Given the description of an element on the screen output the (x, y) to click on. 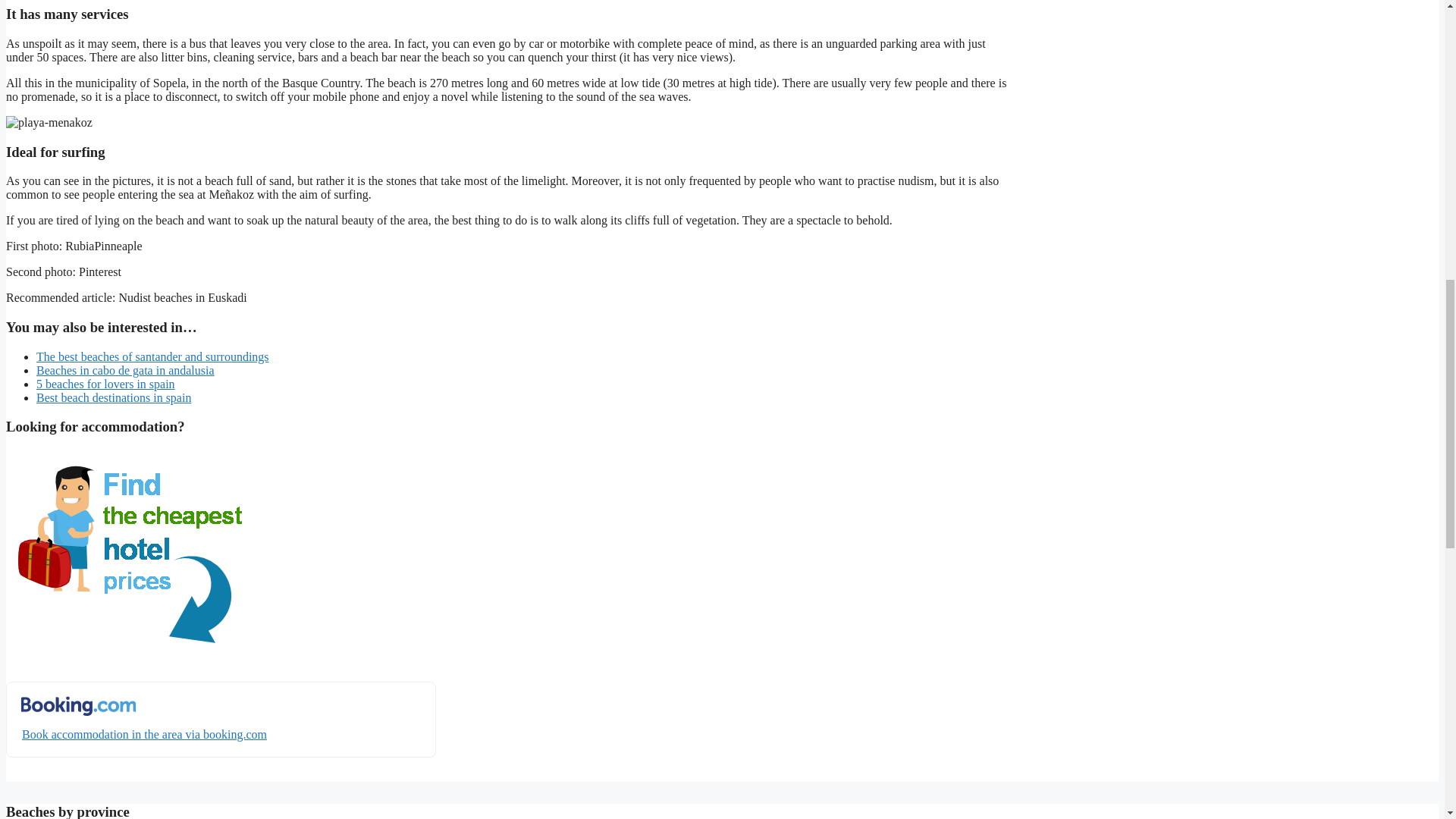
Best beach destinations in spain (113, 397)
Book accommodation in the area via booking.com (220, 719)
The best beaches of santander and surroundings (152, 356)
5 beaches for lovers in spain (105, 383)
Beaches in cabo de gata in andalusia (125, 369)
